Given the description of an element on the screen output the (x, y) to click on. 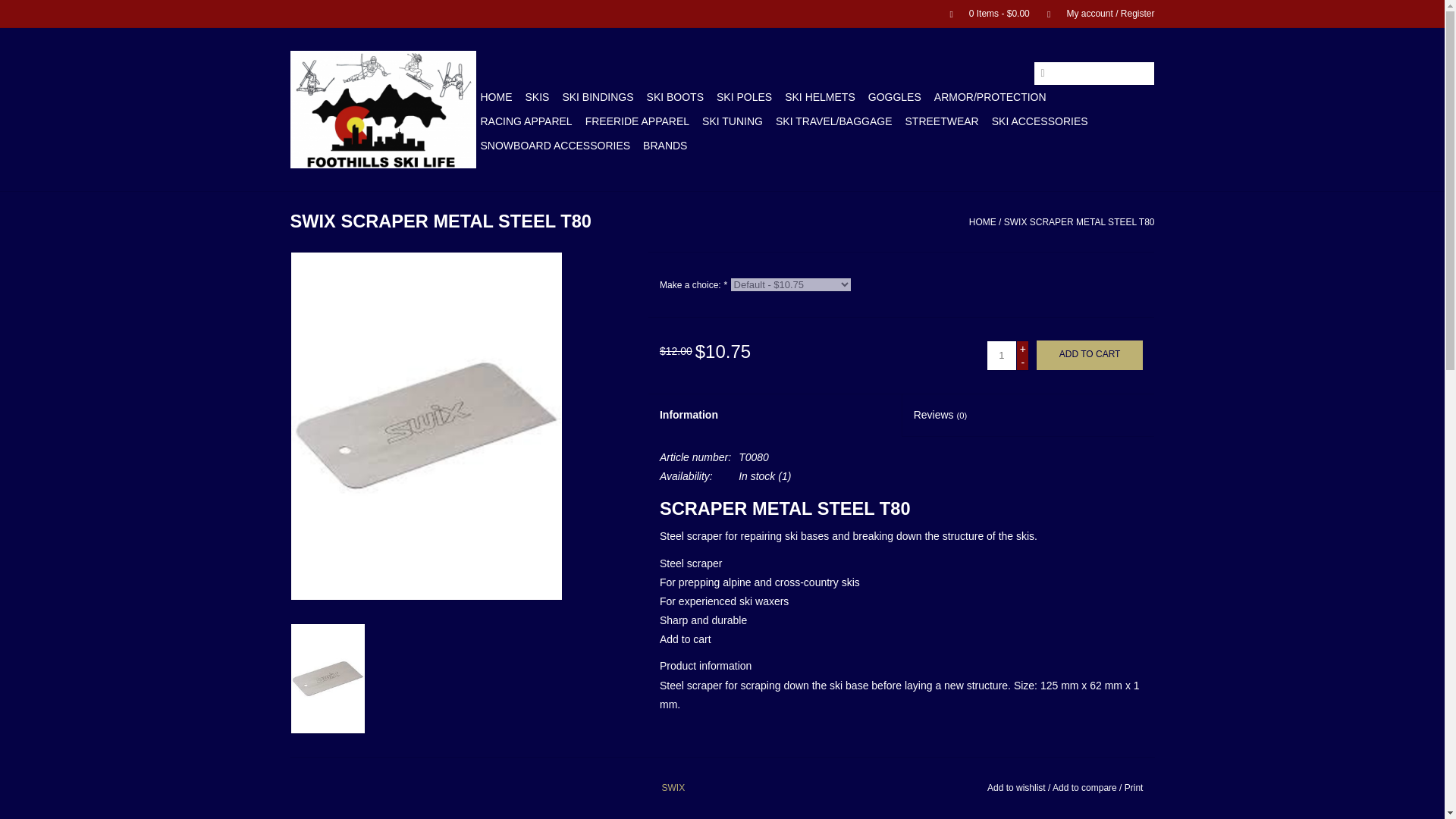
Foothills Ski Life (382, 109)
SKIS (536, 96)
1 (1001, 355)
SKI BOOTS (674, 96)
SKIS (536, 96)
SKI BINDINGS (597, 96)
HOME (496, 96)
My account (1093, 13)
Cart (983, 13)
